Given the description of an element on the screen output the (x, y) to click on. 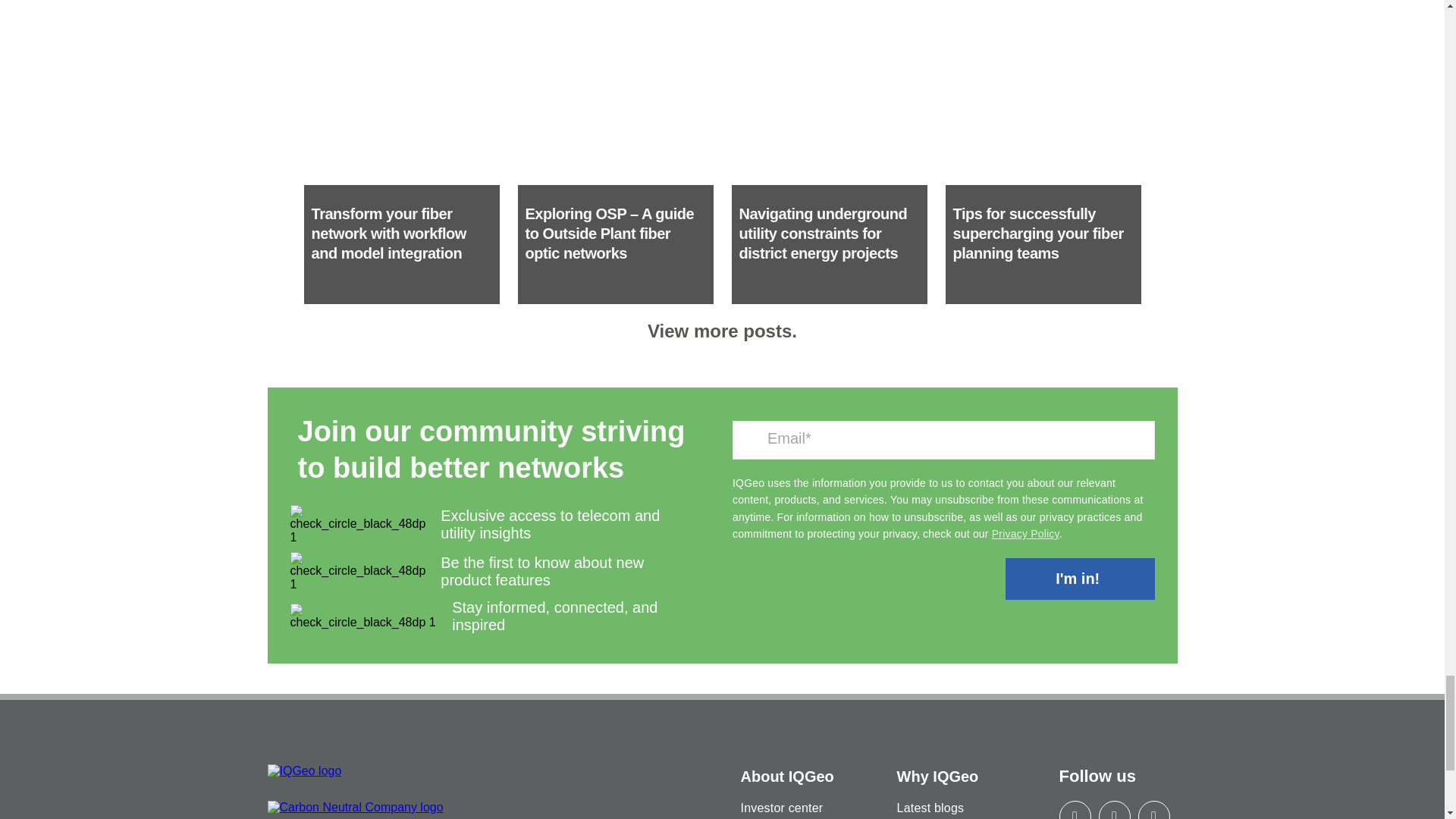
I'm in!  (1080, 578)
